Given the description of an element on the screen output the (x, y) to click on. 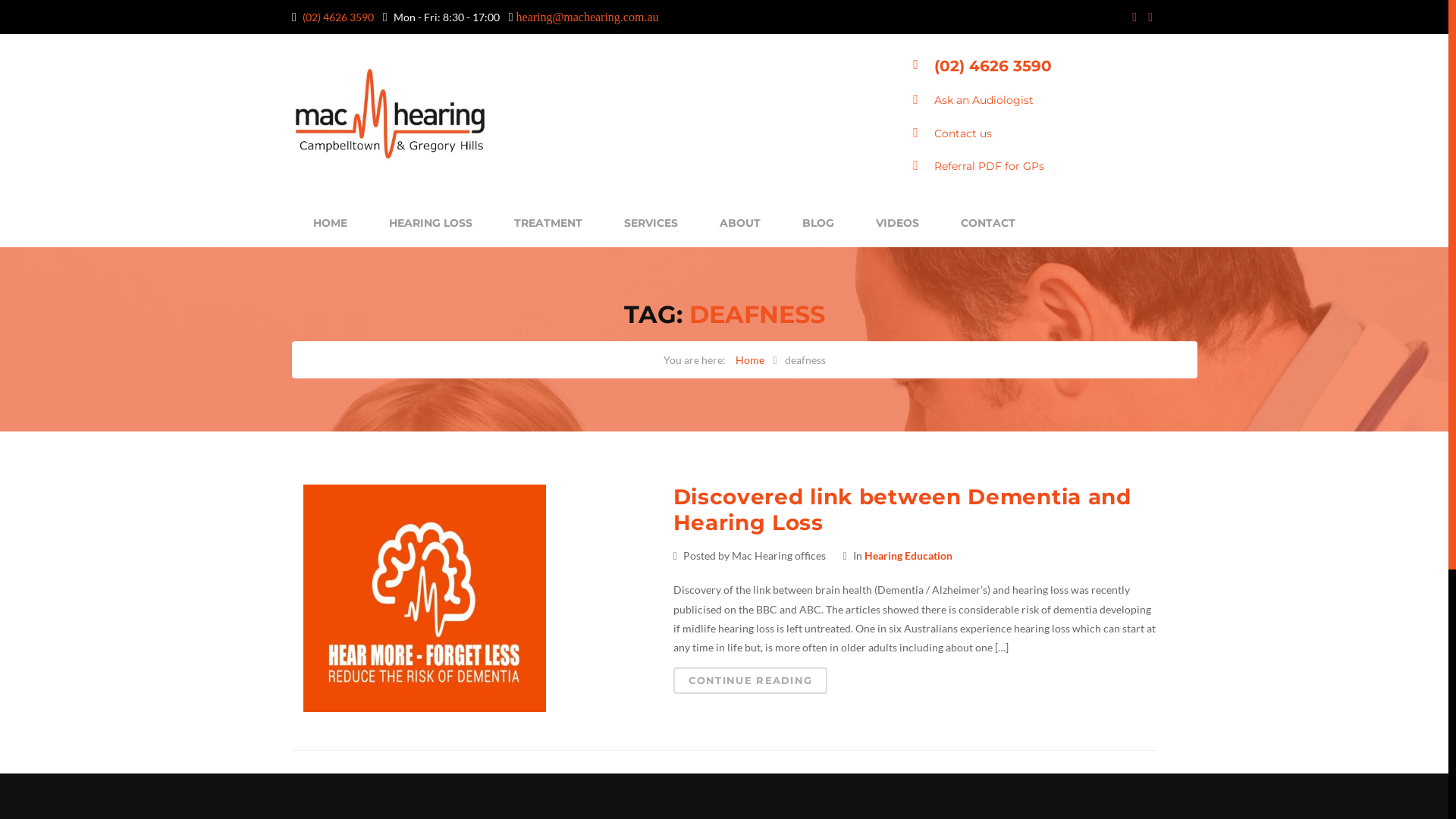
(02) 4626 3590 Element type: text (992, 65)
HOME Element type: text (329, 221)
Hearing Education Element type: text (908, 555)
CONTINUE READING Element type: text (750, 680)
(02) 4626 3590 Element type: text (337, 16)
Ask an Audiologist Element type: text (983, 99)
Search Element type: text (40, 16)
CONTACT Element type: text (988, 221)
VIDEOS Element type: text (897, 221)
HEARING LOSS Element type: text (430, 221)
hearing@machearing.com.au Element type: text (587, 16)
ABOUT Element type: text (740, 221)
TREATMENT Element type: text (548, 221)
Referral PDF for GPs Element type: text (989, 165)
SERVICES Element type: text (651, 221)
Contact us Element type: text (962, 133)
BLOG Element type: text (818, 221)
Discovered link between Dementia and Hearing Loss Element type: text (902, 509)
Home Element type: text (749, 359)
